Given the description of an element on the screen output the (x, y) to click on. 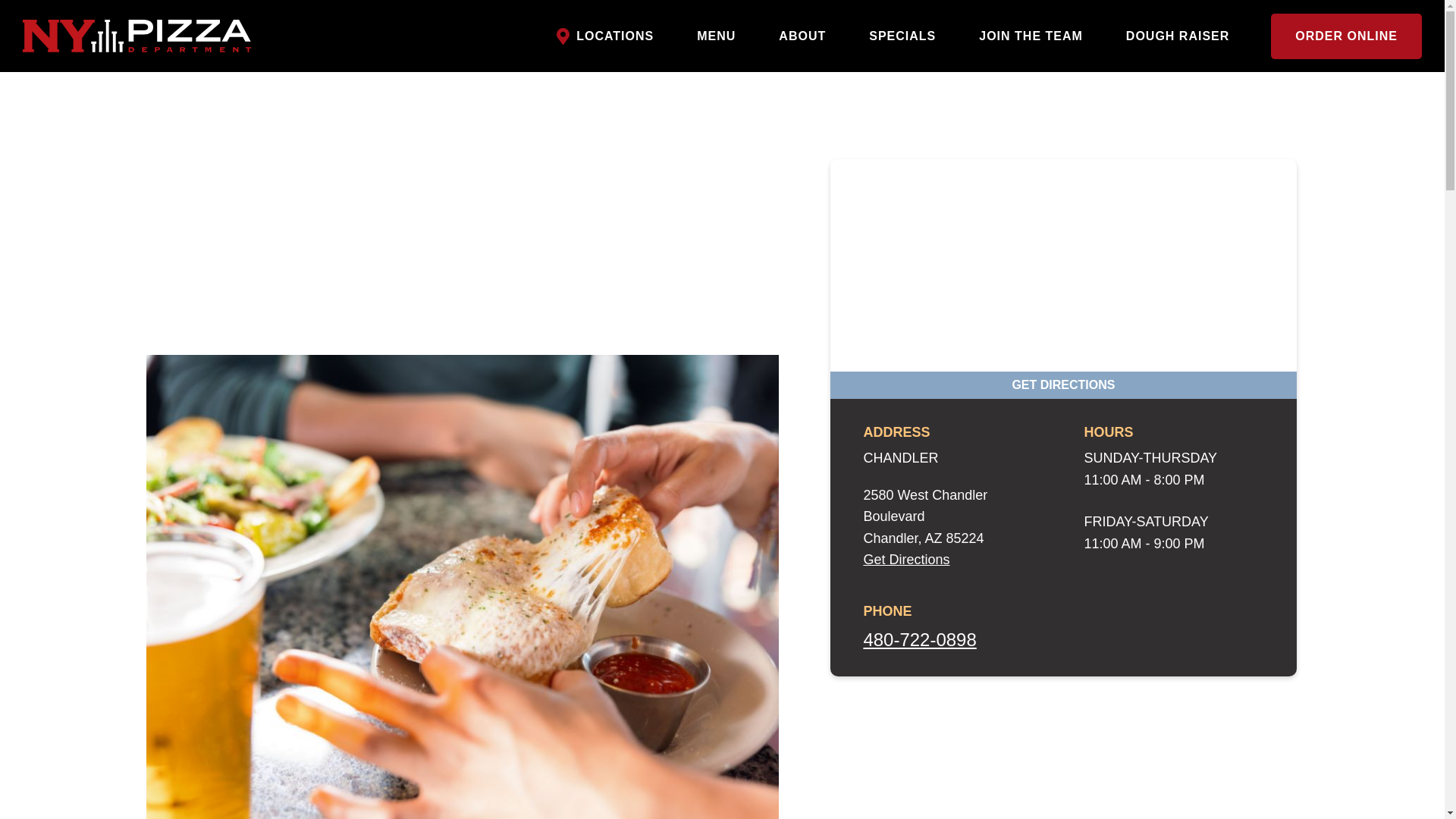
GET DIRECTIONS (1063, 384)
Get Directions (906, 559)
LOCATIONS (606, 36)
DOUGH RAISER (1177, 36)
ORDER ONLINE (1346, 35)
MENU (715, 36)
JOIN THE TEAM (1030, 36)
ABOUT (802, 36)
480-722-0898 (919, 639)
SPECIALS (902, 36)
